Given the description of an element on the screen output the (x, y) to click on. 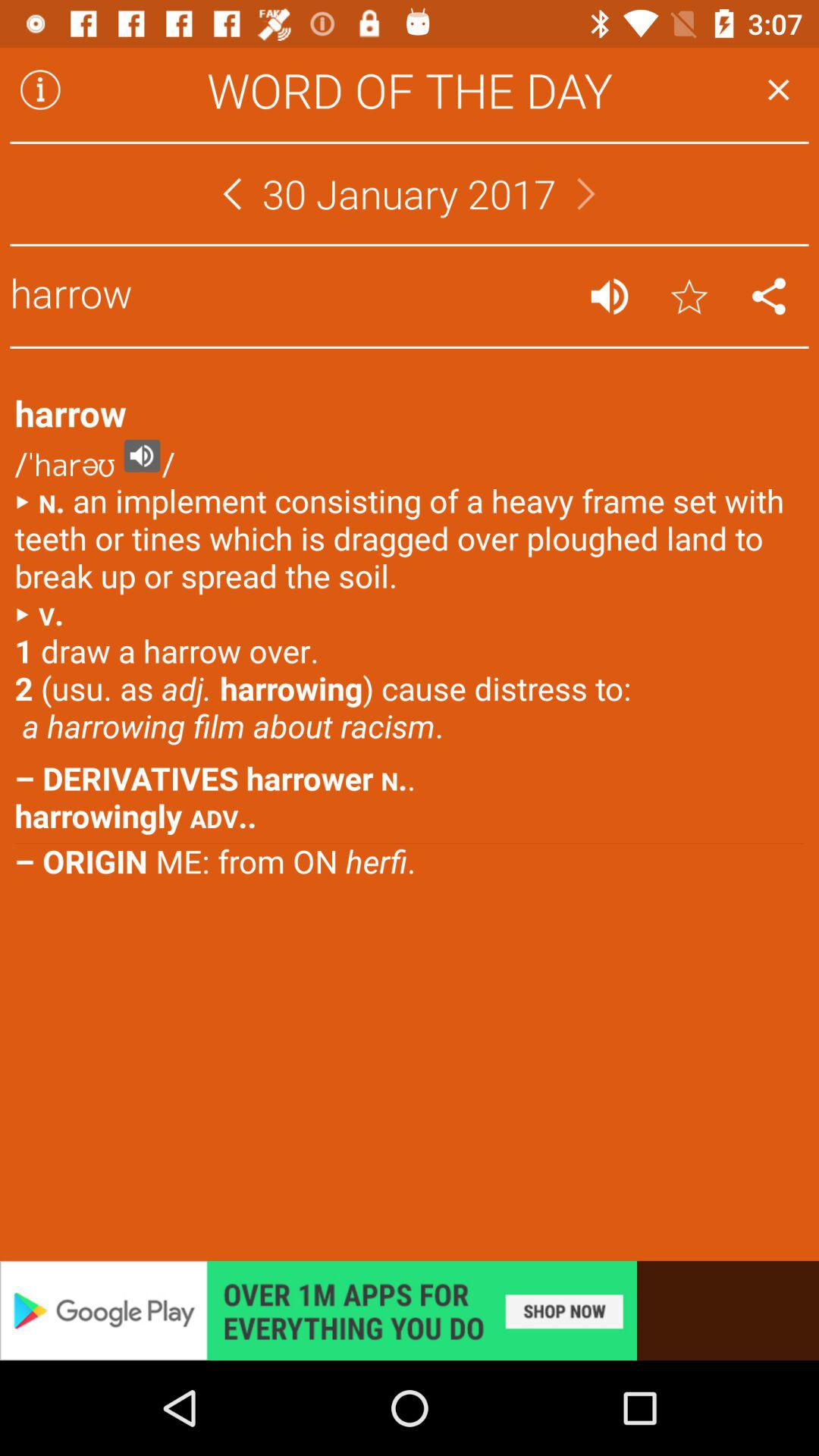
go back (778, 89)
